Given the description of an element on the screen output the (x, y) to click on. 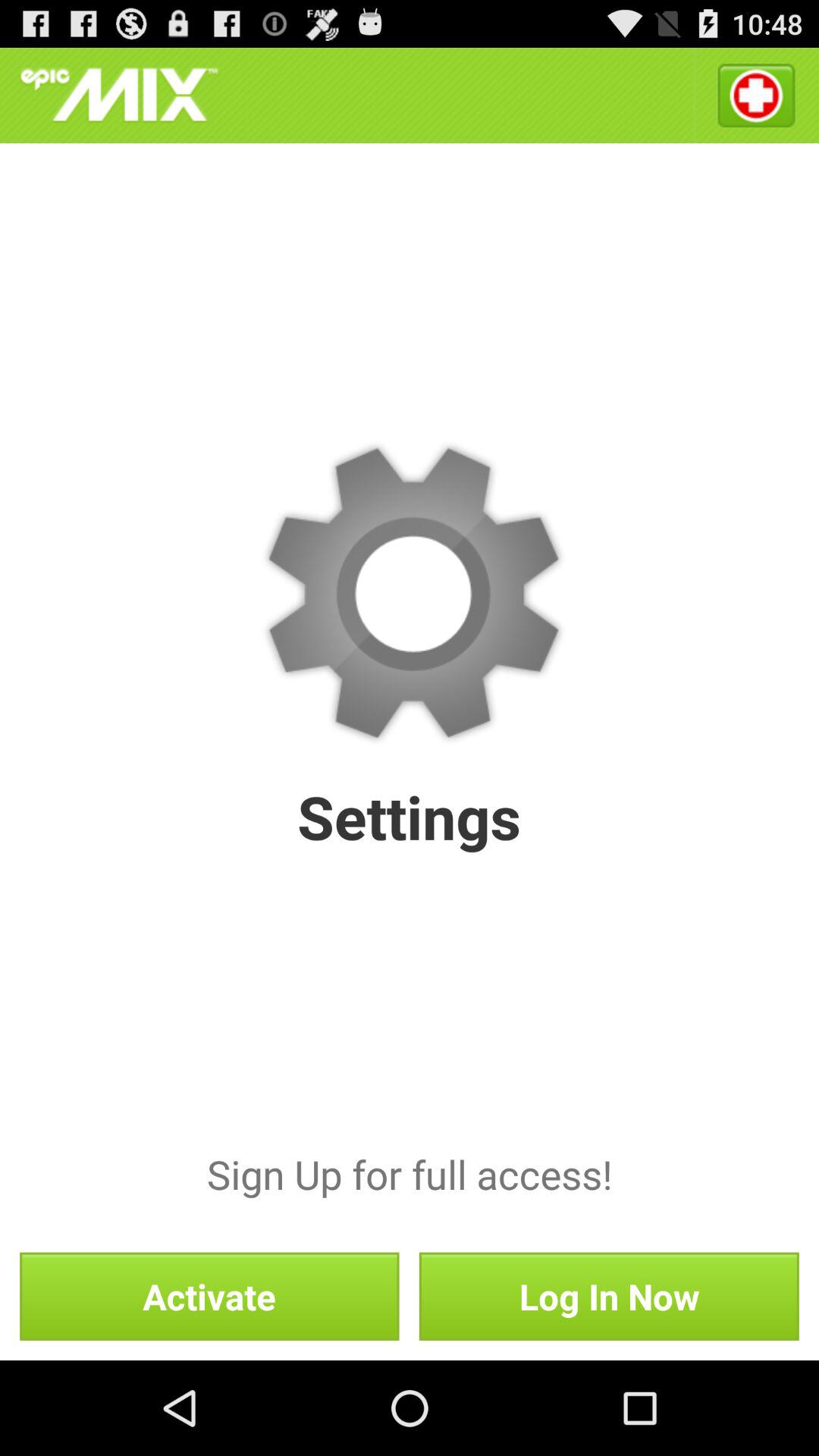
launch icon below the sign up for icon (209, 1296)
